Given the description of an element on the screen output the (x, y) to click on. 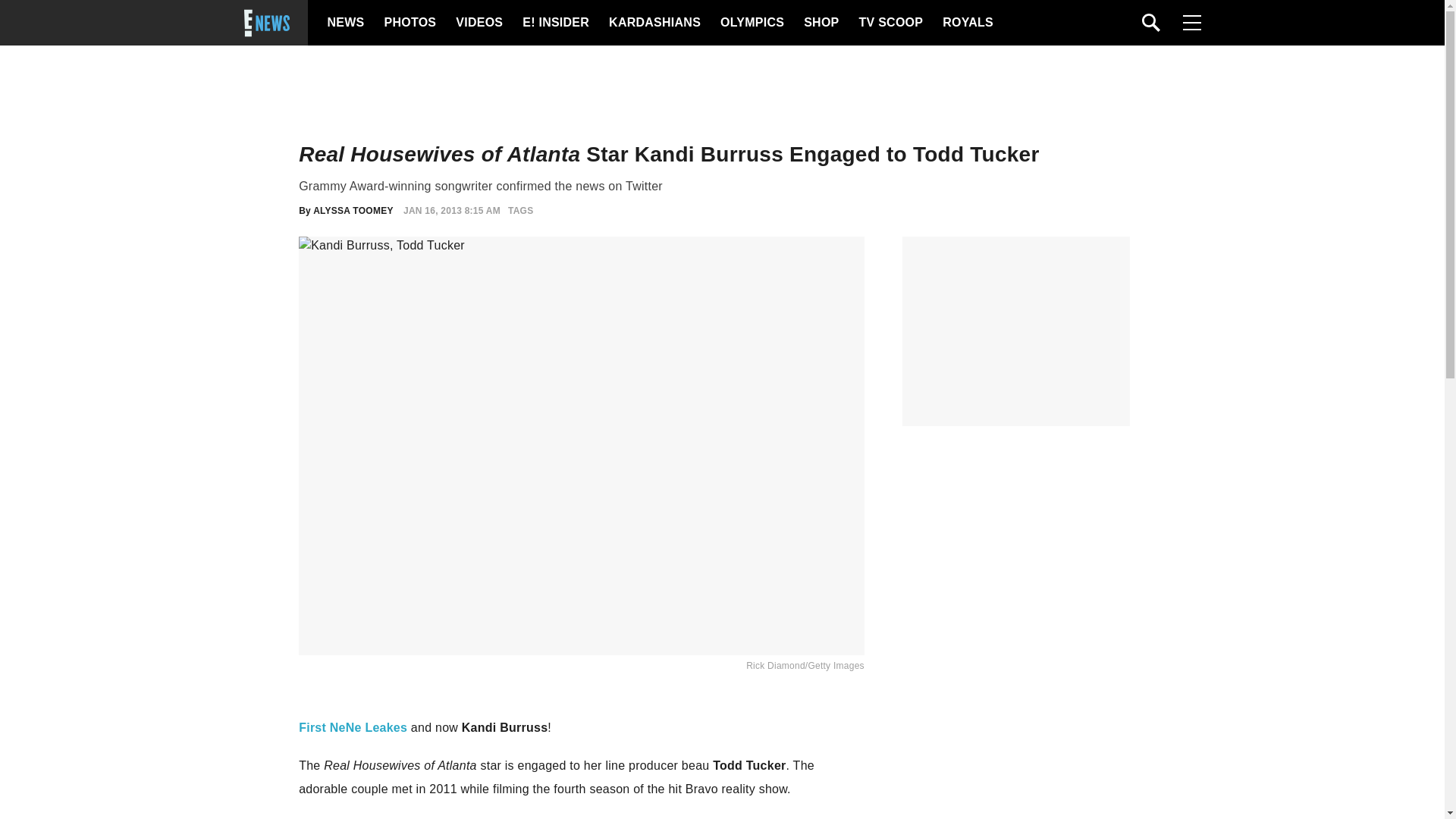
VIDEOS (478, 22)
KARDASHIANS (653, 22)
SHOP (820, 22)
OLYMPICS (751, 22)
ALYSSA TOOMEY (353, 210)
NEWS (345, 22)
First NeNe Leakes (352, 727)
ROYALS (966, 22)
PHOTOS (408, 22)
E! INSIDER (555, 22)
